Given the description of an element on the screen output the (x, y) to click on. 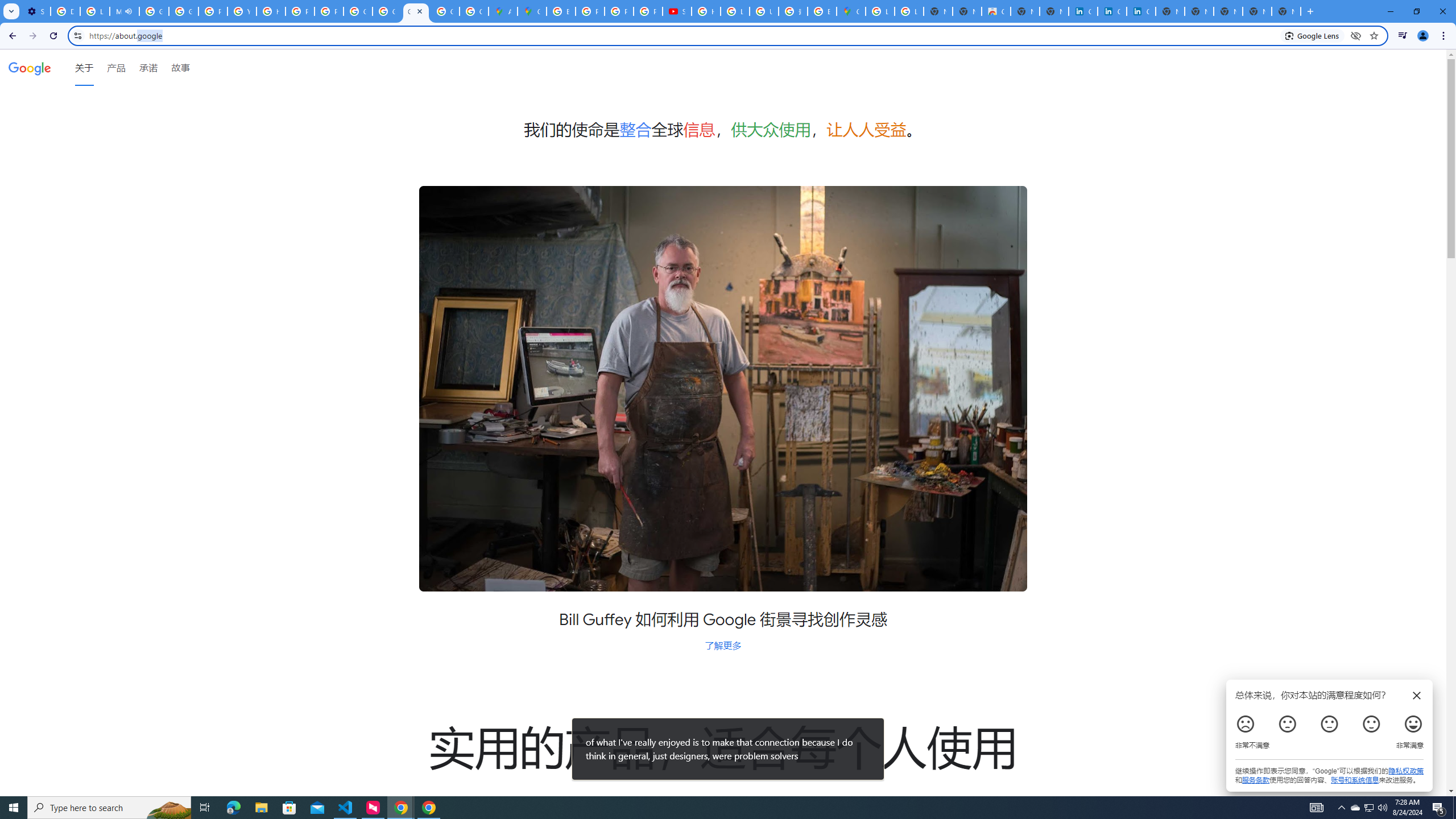
Create your Google Account (473, 11)
Privacy Help Center - Policies Help (619, 11)
Mute tab (127, 10)
